Given the description of an element on the screen output the (x, y) to click on. 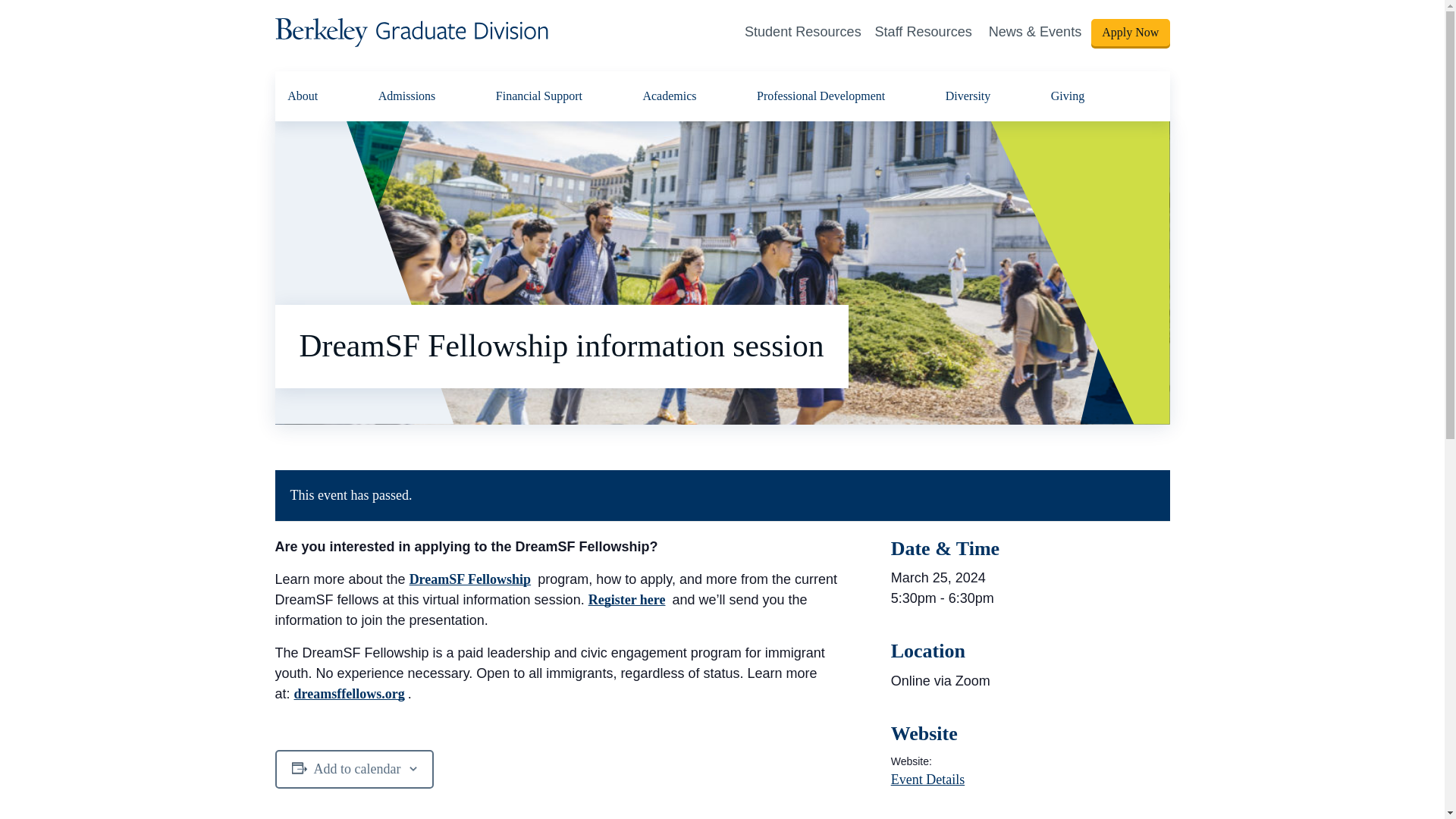
Financial Support (538, 95)
About (302, 95)
Student Resources (802, 32)
Admissions (407, 95)
Apply Now (1129, 31)
